Given the description of an element on the screen output the (x, y) to click on. 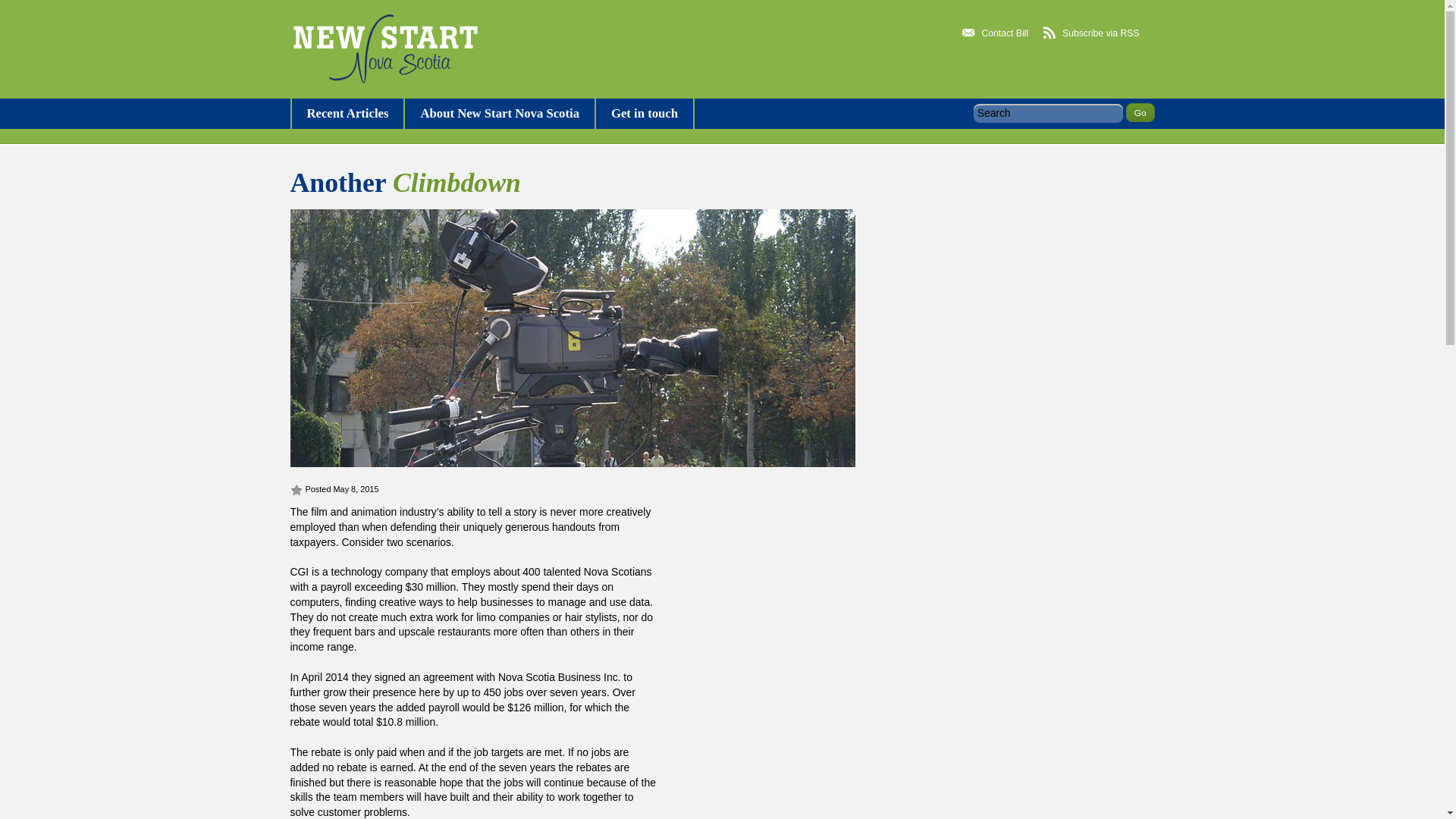
About New Start Nova Scotia (499, 113)
Subscribe via RSS (1090, 33)
Recent Articles (347, 113)
Go (1139, 112)
Search (1048, 113)
Contact Bill (994, 33)
Get in touch (644, 113)
Go (1139, 112)
Search (1048, 113)
